Given the description of an element on the screen output the (x, y) to click on. 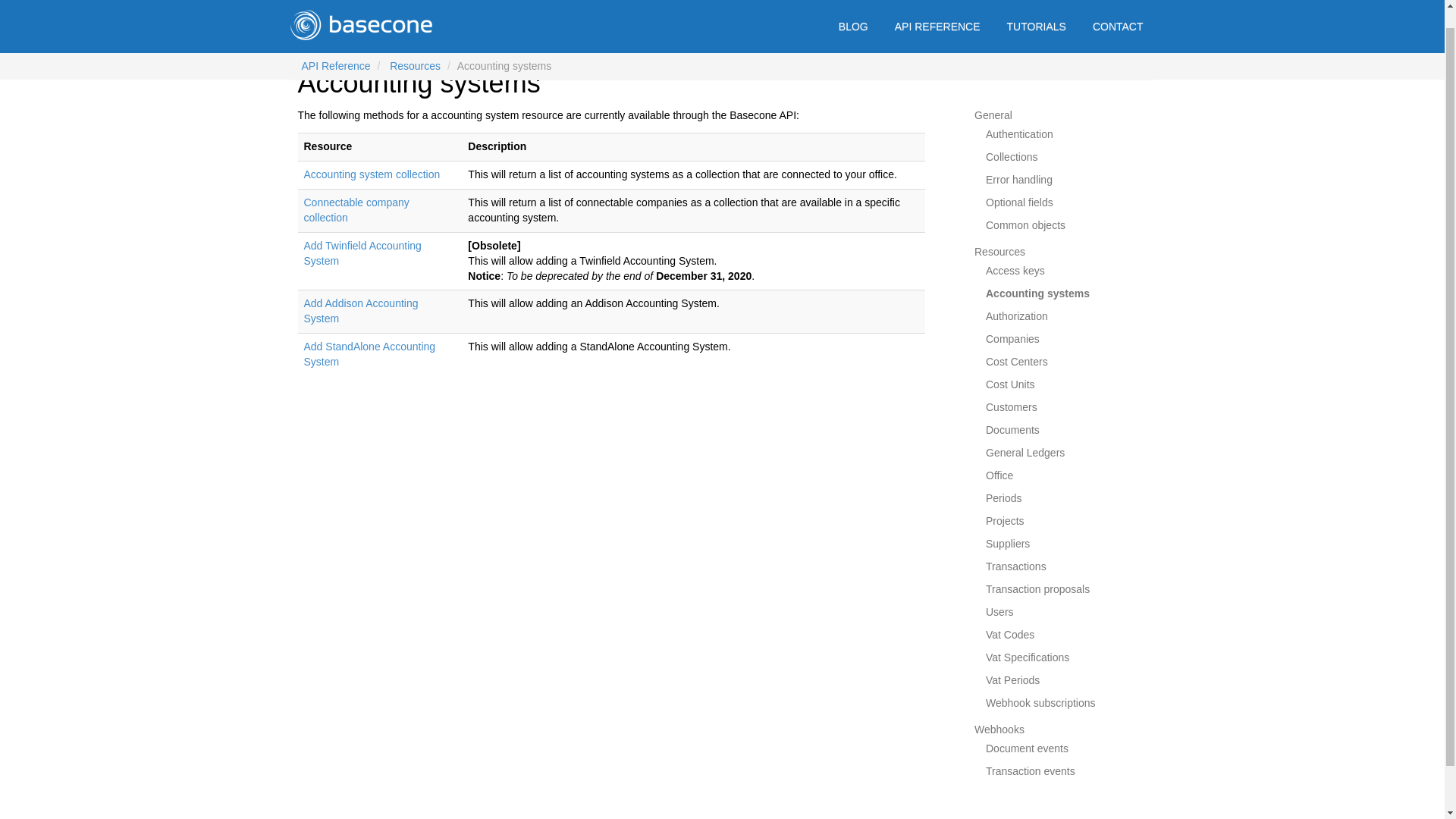
General (992, 114)
CONTACT (1117, 11)
Customers (1010, 407)
Projects (1005, 521)
Cost Units (1010, 384)
BLOG (853, 11)
Transaction proposals (1037, 589)
Accounting system collection (370, 174)
Resources (999, 251)
Optional fields (1018, 202)
Suppliers (1007, 543)
Add StandAlone Accounting System (368, 353)
Companies (1012, 338)
Collections (1010, 156)
Webhook subscriptions (1039, 702)
